Given the description of an element on the screen output the (x, y) to click on. 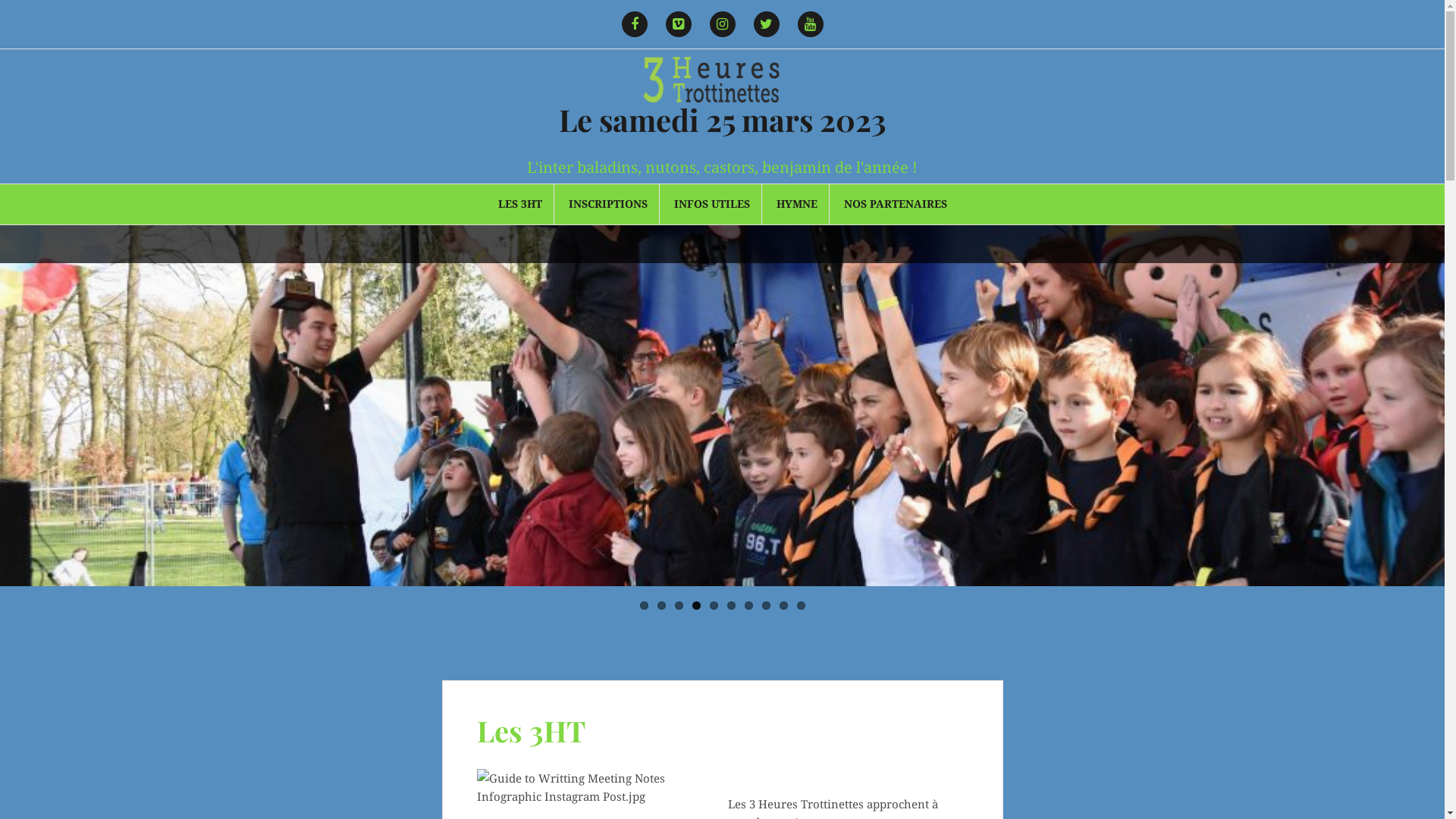
Aller au contenu Element type: text (0, 0)
INFOS UTILES Element type: text (711, 203)
2 Element type: text (660, 605)
7 Element type: text (748, 605)
9 Element type: text (783, 605)
Instagram Element type: text (722, 23)
Youtube Element type: text (810, 23)
4 Element type: text (695, 605)
INSCRIPTIONS Element type: text (607, 203)
1 Element type: text (644, 605)
5 Element type: text (713, 605)
10 Element type: text (800, 605)
Le samedi 25 mars 2023 Element type: text (721, 119)
8 Element type: text (765, 605)
Twitter Element type: text (766, 23)
3 Element type: text (678, 605)
LES 3HT Element type: text (519, 203)
HYMNE Element type: text (796, 203)
NOS PARTENAIRES Element type: text (894, 203)
Facebook Element type: text (634, 23)
6 Element type: text (730, 605)
